Given the description of an element on the screen output the (x, y) to click on. 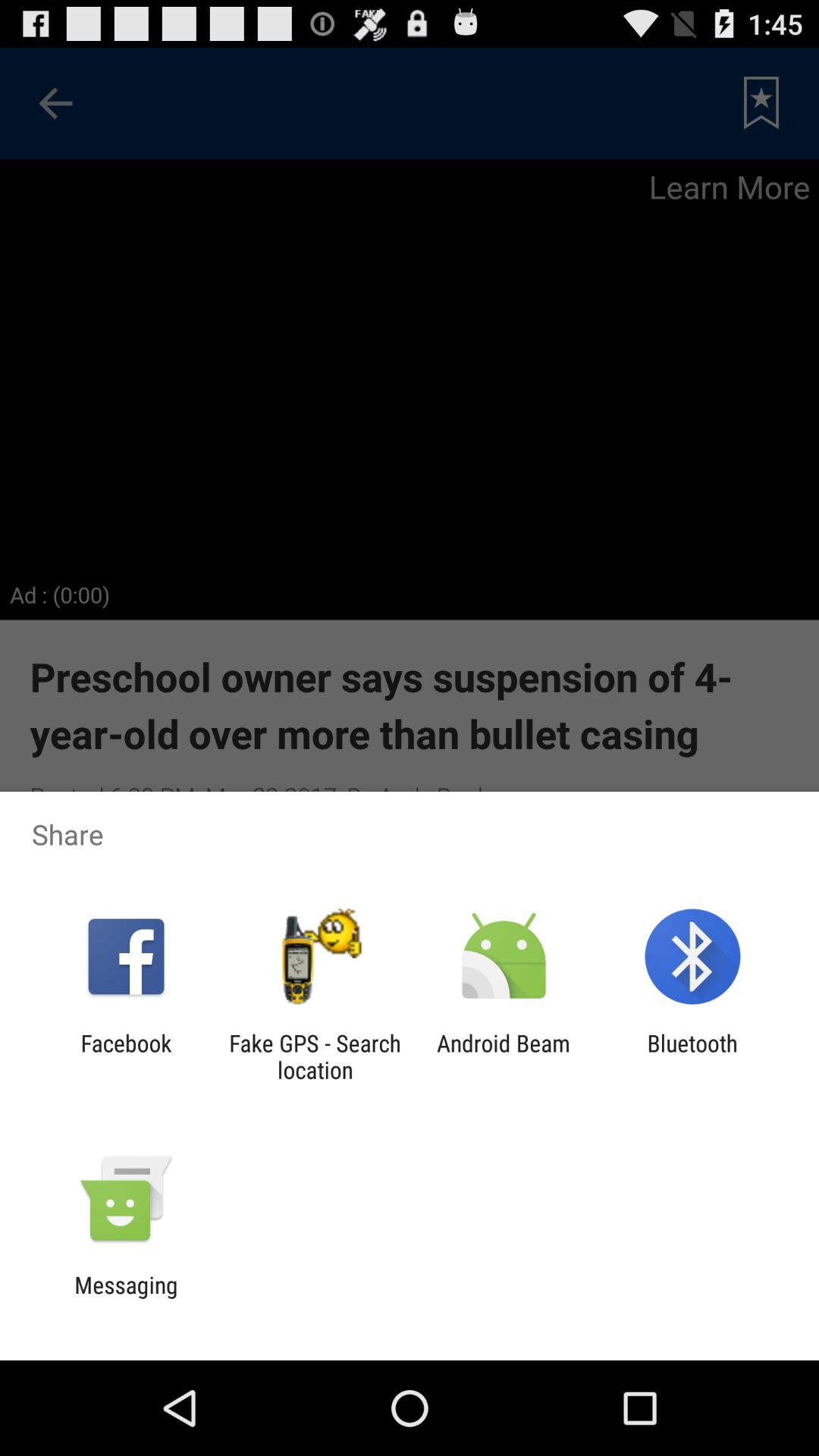
flip to the bluetooth item (692, 1056)
